Given the description of an element on the screen output the (x, y) to click on. 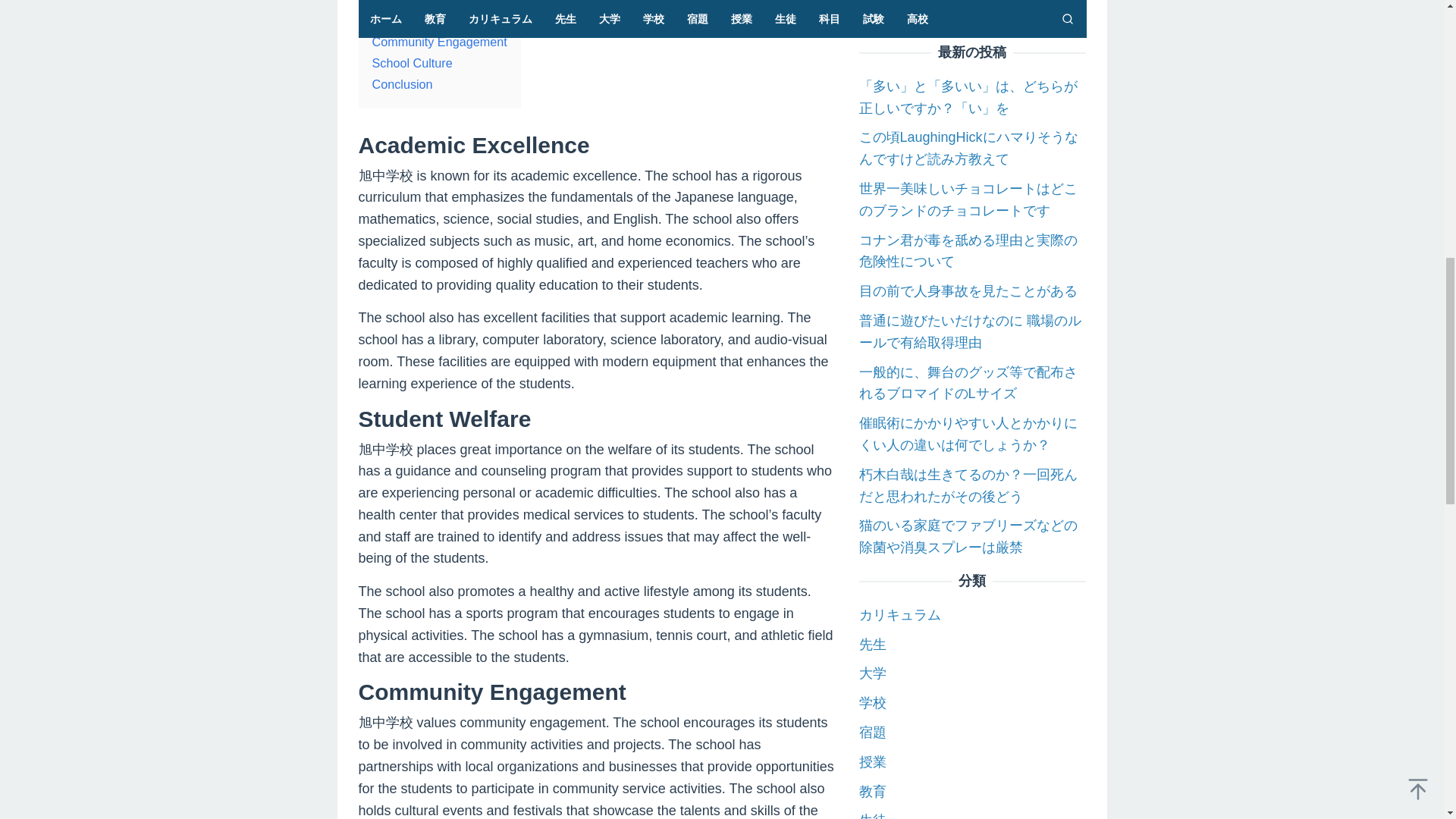
Academic Excellence (429, 2)
Student Welfare (415, 20)
Community Engagement (438, 41)
School Culture (411, 62)
Conclusion (401, 83)
